Given the description of an element on the screen output the (x, y) to click on. 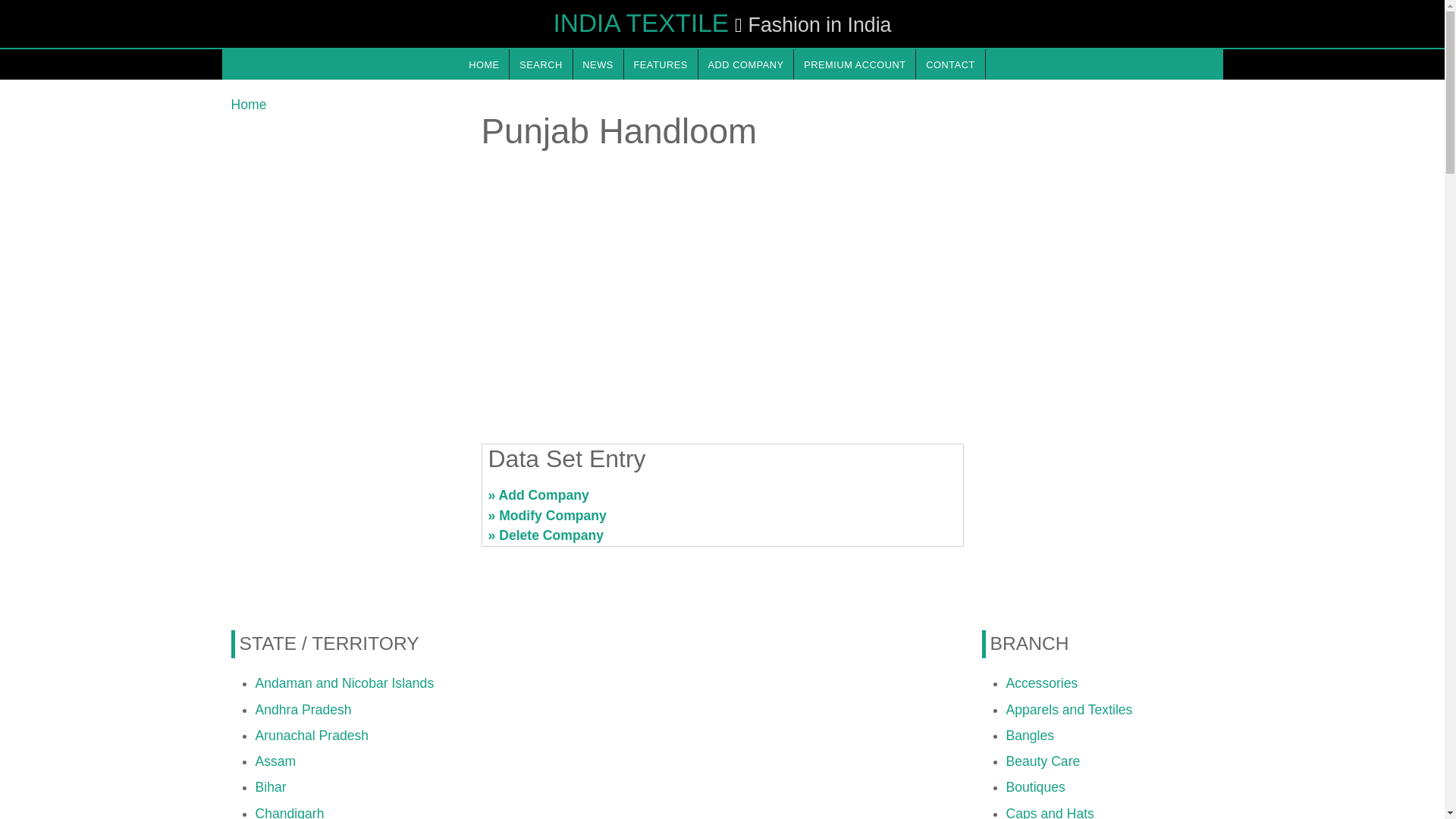
NEWS (598, 64)
SEARCH (540, 64)
INDIA TEXTILE (641, 22)
Home (248, 104)
FEATURES (660, 64)
PREMIUM ACCOUNT (854, 64)
HOME (483, 64)
ADD COMPANY (745, 64)
Arunachal Pradesh (311, 735)
